Given the description of an element on the screen output the (x, y) to click on. 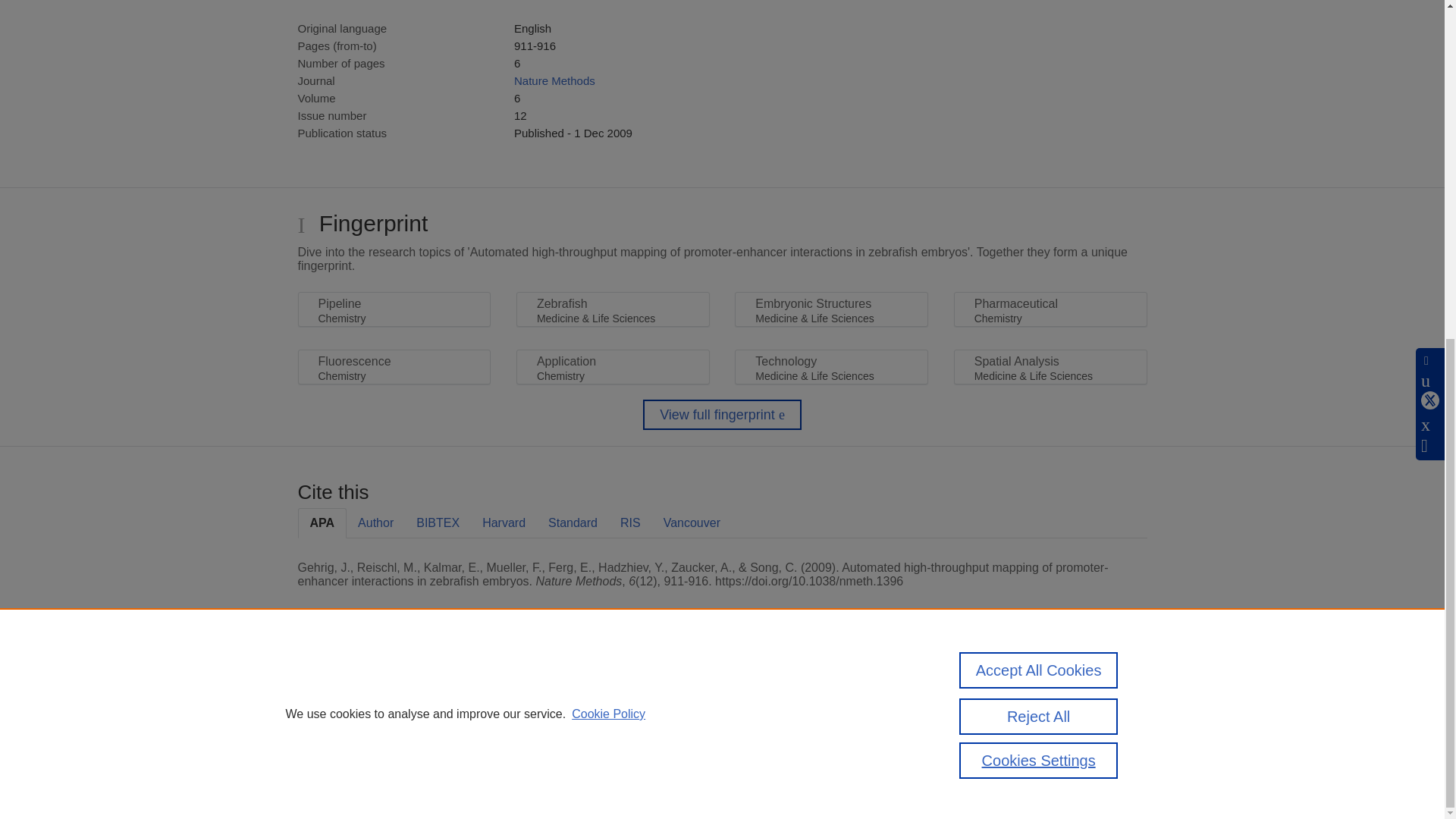
Nature Methods (554, 80)
Scopus (394, 686)
Pure (362, 686)
View full fingerprint (722, 414)
